Given the description of an element on the screen output the (x, y) to click on. 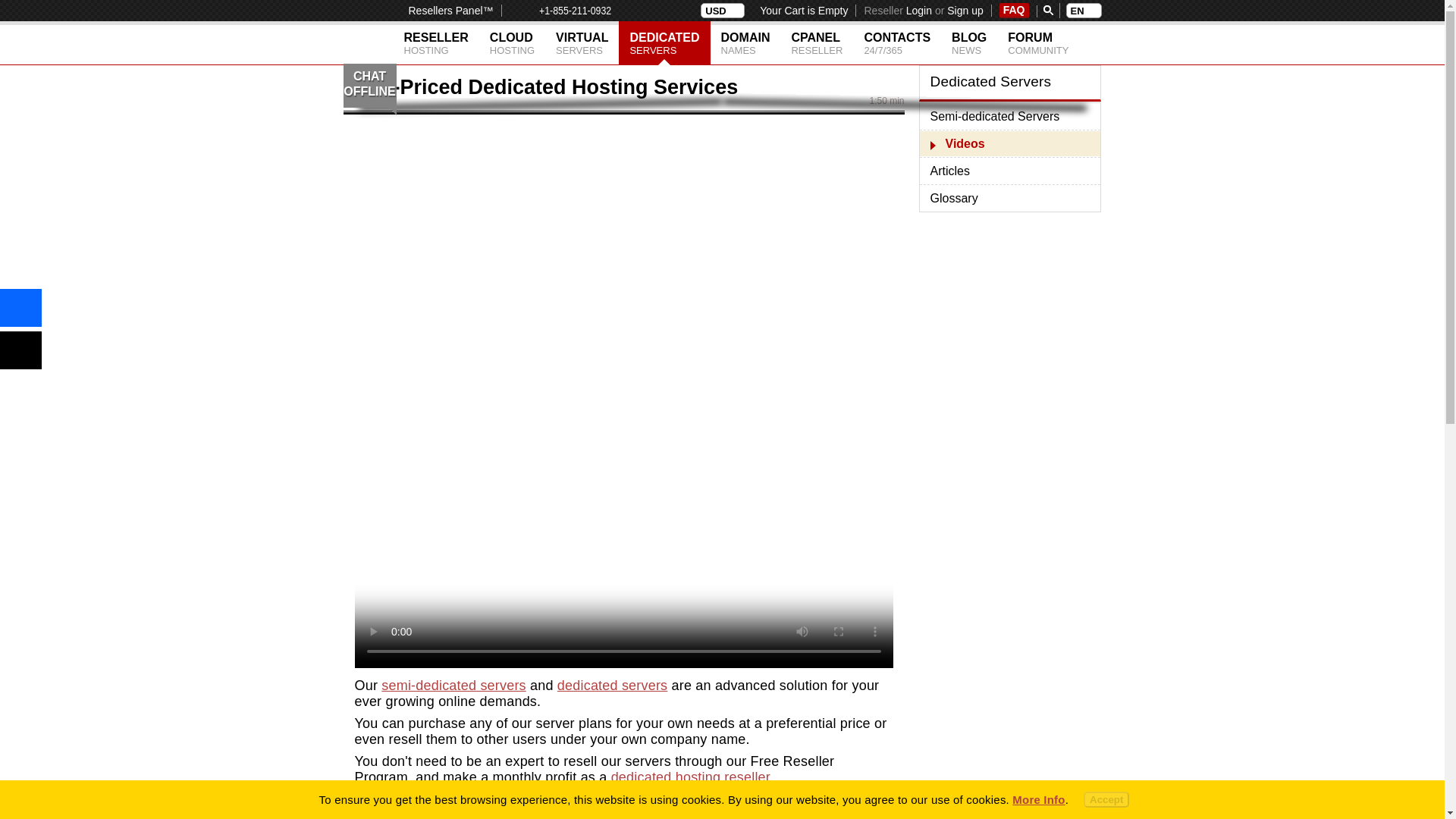
Our Blog (968, 43)
Our Forum (1037, 43)
Semi-dedicated Servers (1008, 116)
Cloud Web Hosting (511, 43)
Reseller Hosting (436, 43)
Like us (21, 307)
Contacts (896, 43)
Follow us (21, 350)
Virtual Private Servers (581, 43)
Reseller Sign Up (964, 10)
Search (511, 43)
Dedicated Servers (664, 43)
